Given the description of an element on the screen output the (x, y) to click on. 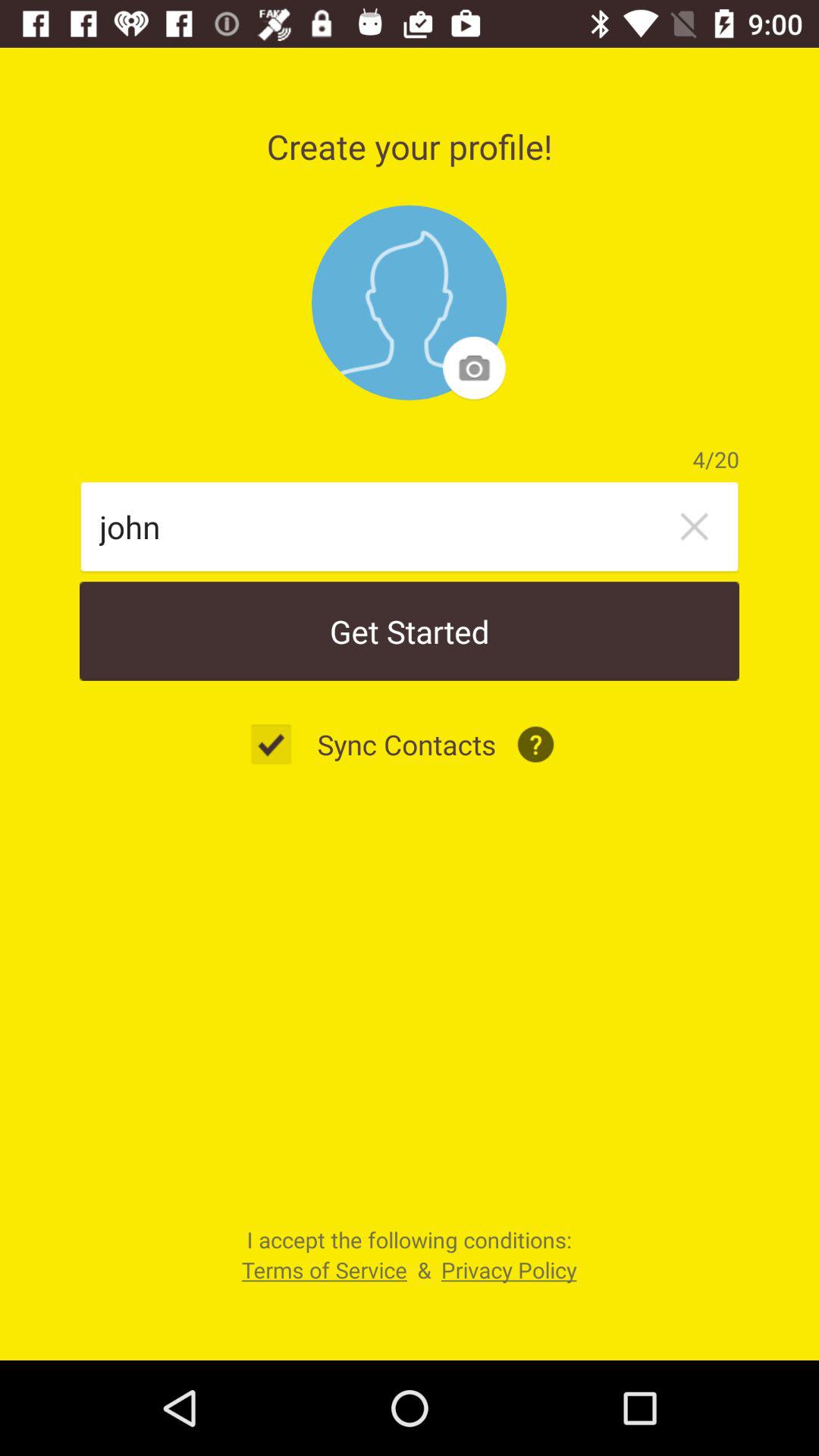
flip to sync contacts item (406, 744)
